Given the description of an element on the screen output the (x, y) to click on. 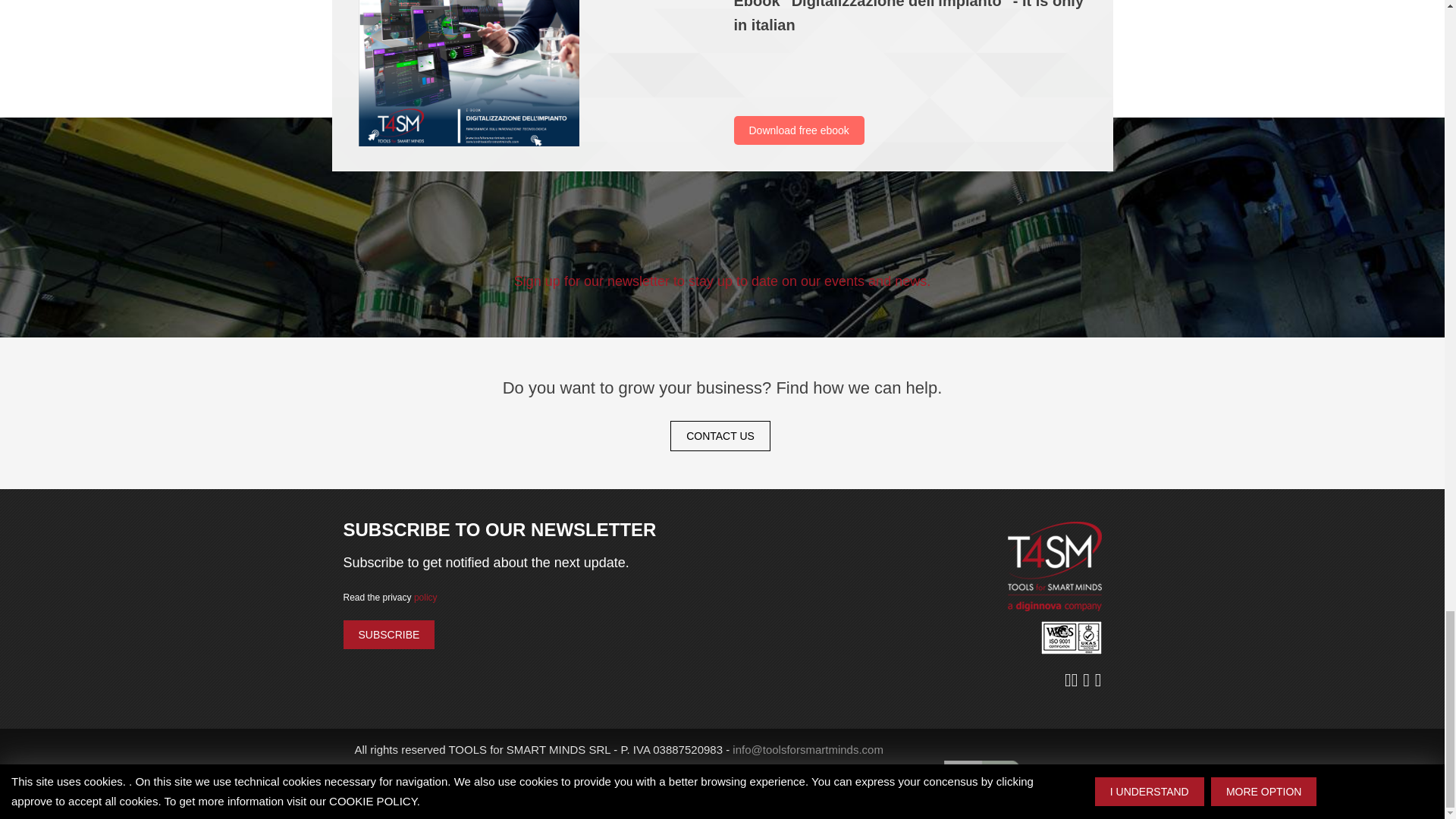
Sitemap (690, 788)
Customers privacy policy (543, 788)
National Instruments Alliance Partners (1138, 783)
Subscribe (387, 634)
Web site privacy policy (412, 788)
Free ebook of Industry 4.0 - only in italian (534, 73)
Contact (719, 435)
National Instruments Alliance Partners (981, 783)
Partners (637, 788)
Free ebook of Industry 4.0 - only in italian (468, 73)
